Given the description of an element on the screen output the (x, y) to click on. 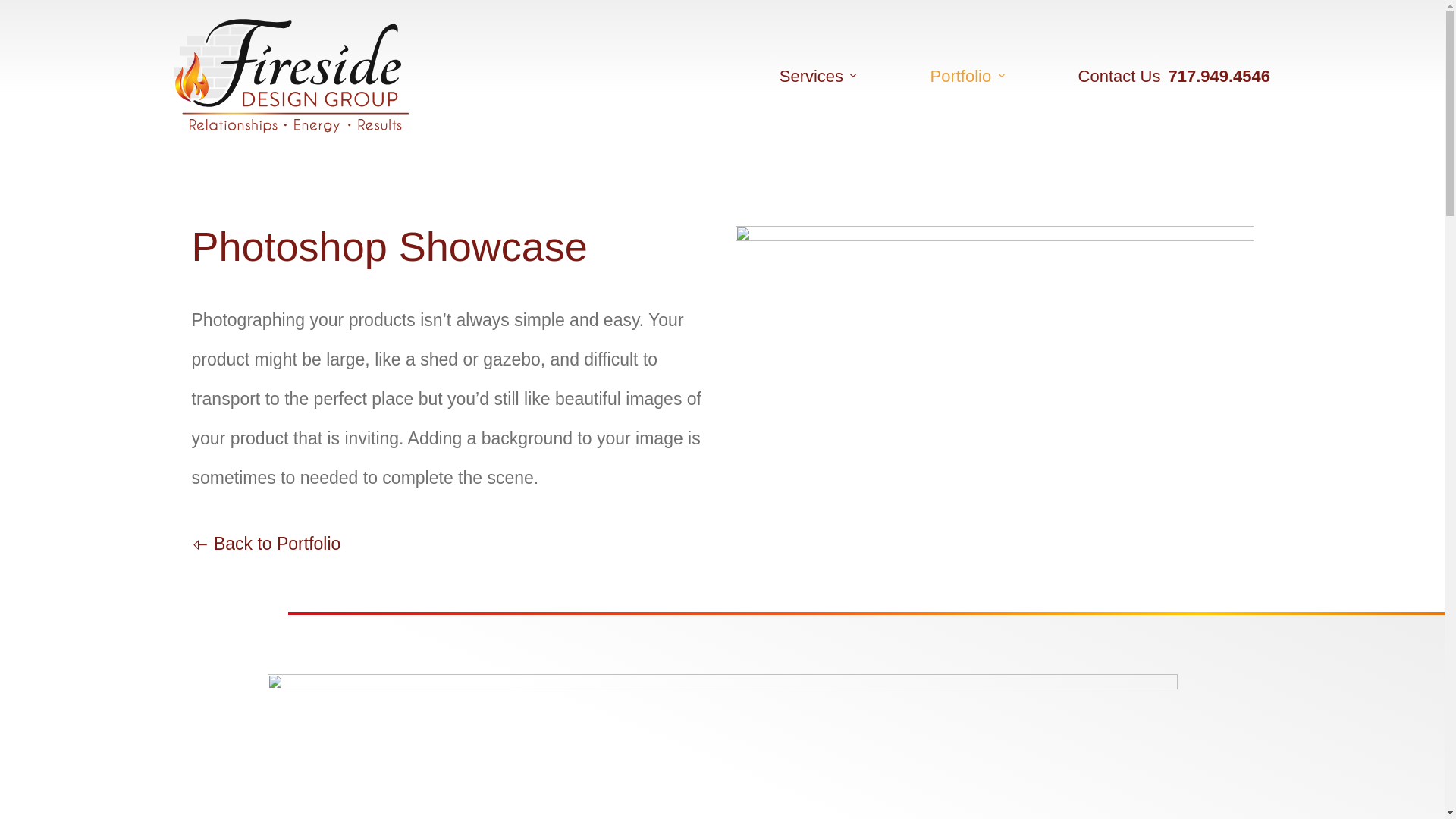
Skip to content (15, 7)
717.949.4546 (1218, 75)
Portfolio (967, 75)
